Given the description of an element on the screen output the (x, y) to click on. 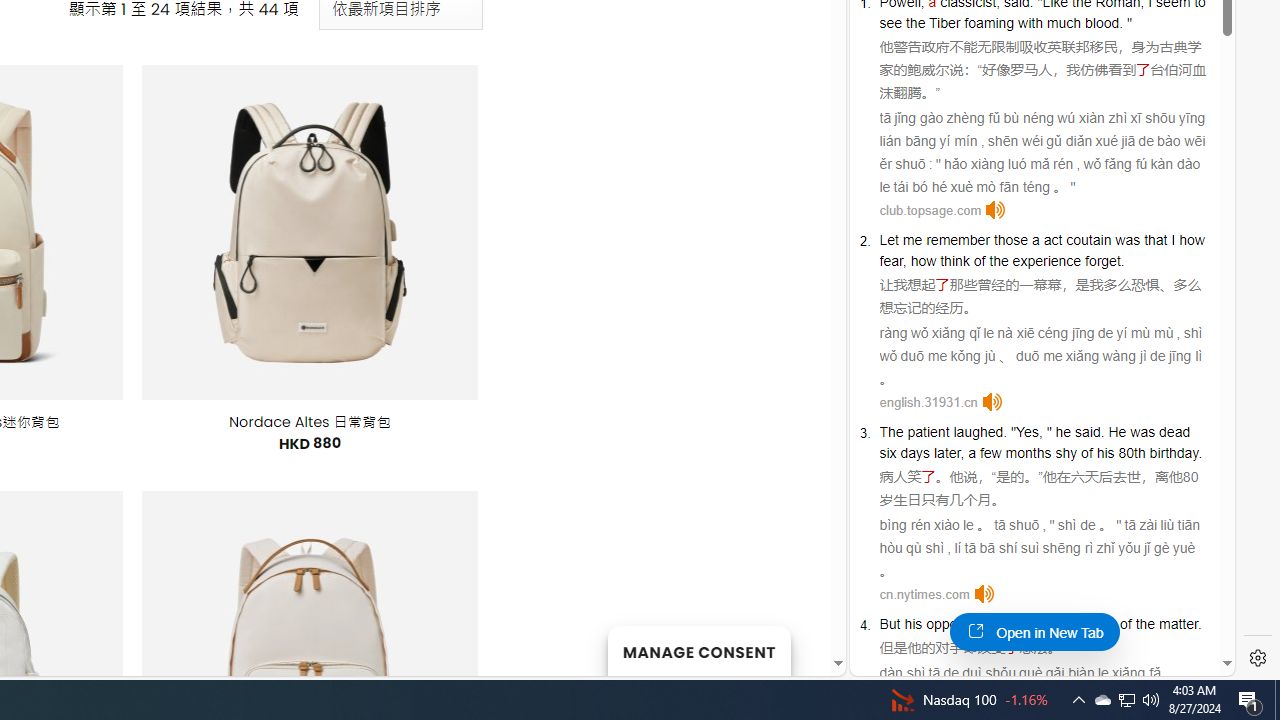
" (1048, 431)
experience (1046, 260)
how (923, 260)
cn.nytimes.com (924, 593)
few (990, 452)
